Given the description of an element on the screen output the (x, y) to click on. 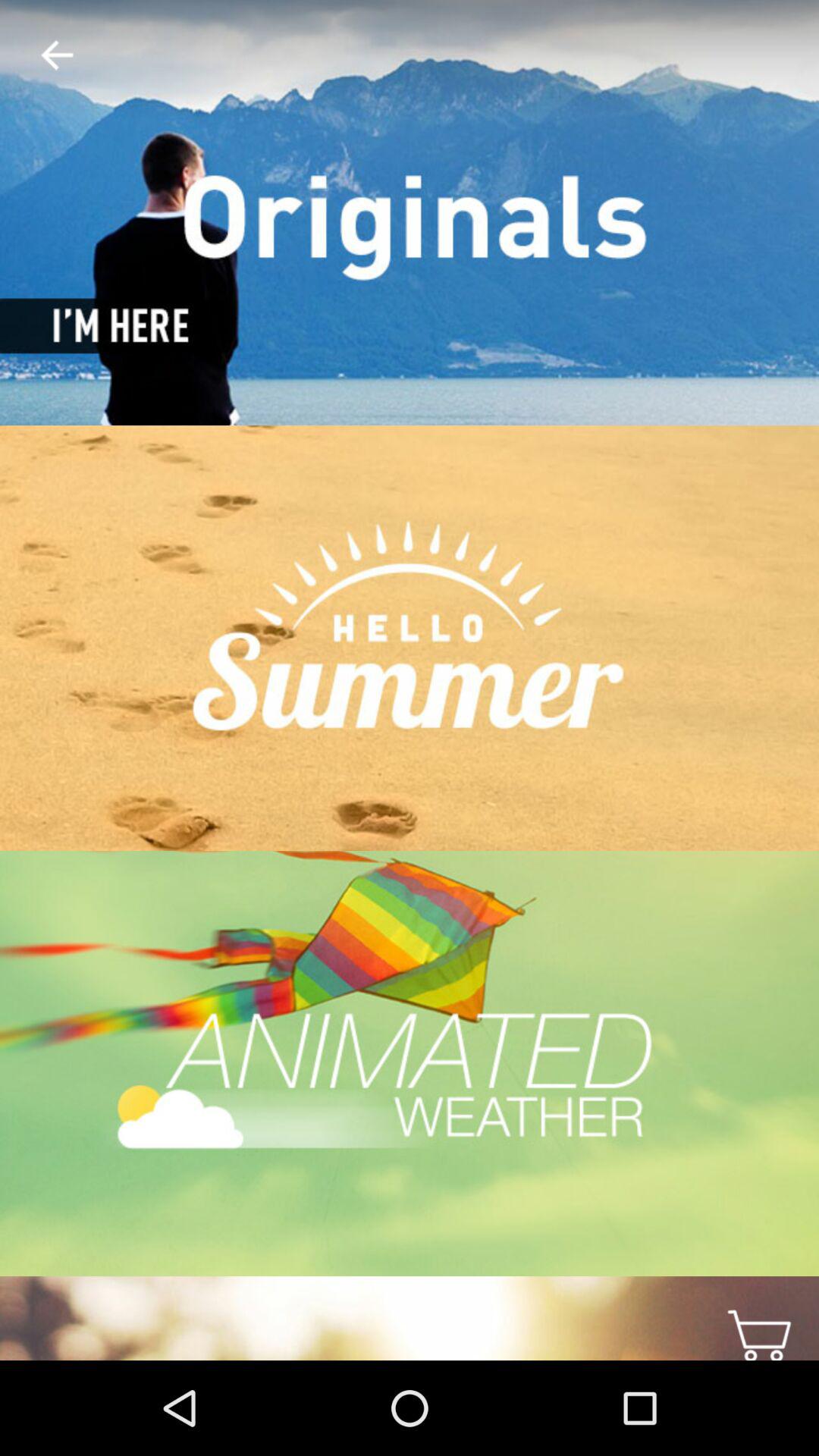
select the item at the top left corner (44, 55)
